Given the description of an element on the screen output the (x, y) to click on. 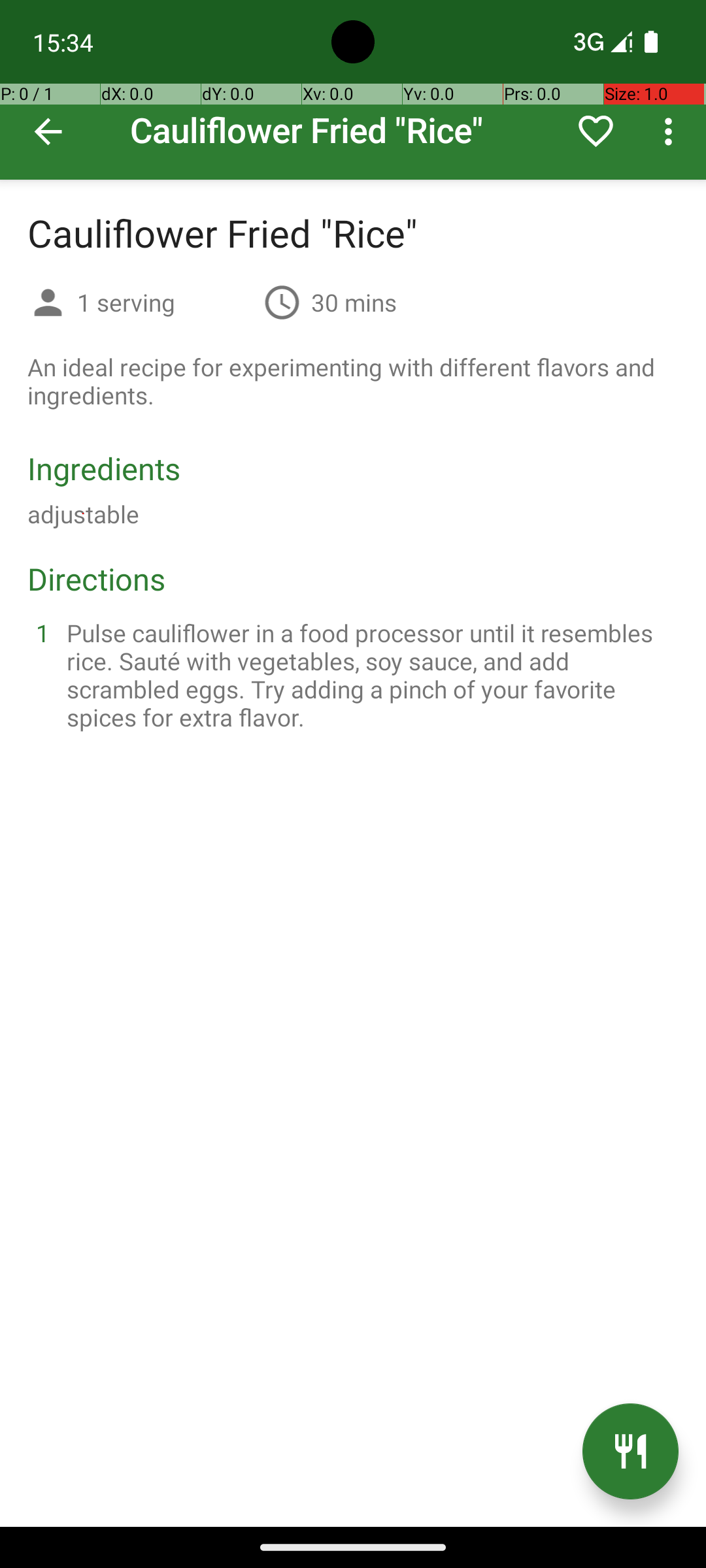
Cauliflower Fried "Rice" Element type: android.widget.FrameLayout (353, 89)
30 mins Element type: android.widget.TextView (353, 301)
adjustable Element type: android.widget.TextView (83, 513)
Pulse cauliflower in a food processor until it resembles rice. Sauté with vegetables, soy sauce, and add scrambled eggs. Try adding a pinch of your favorite spices for extra flavor. Element type: android.widget.TextView (368, 674)
